Given the description of an element on the screen output the (x, y) to click on. 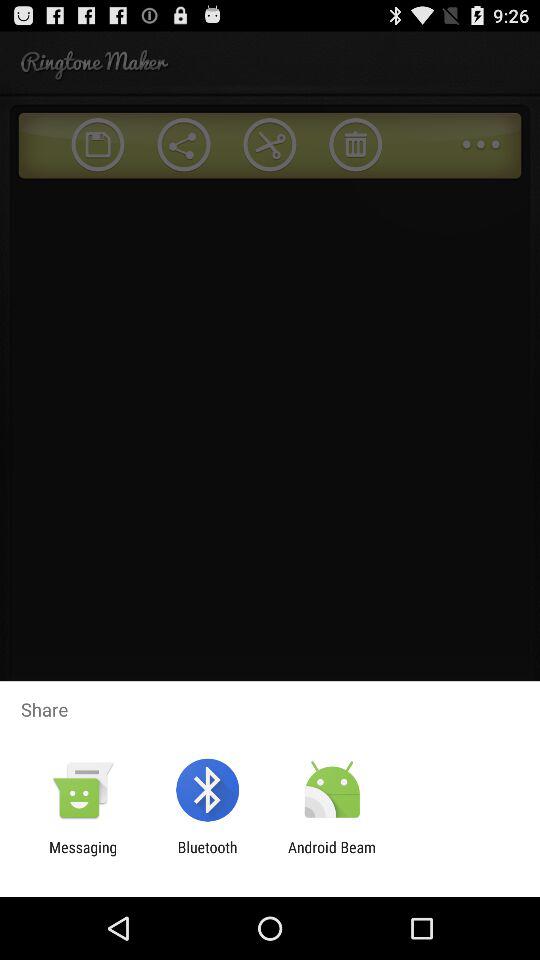
turn off the app next to the bluetooth icon (332, 856)
